Given the description of an element on the screen output the (x, y) to click on. 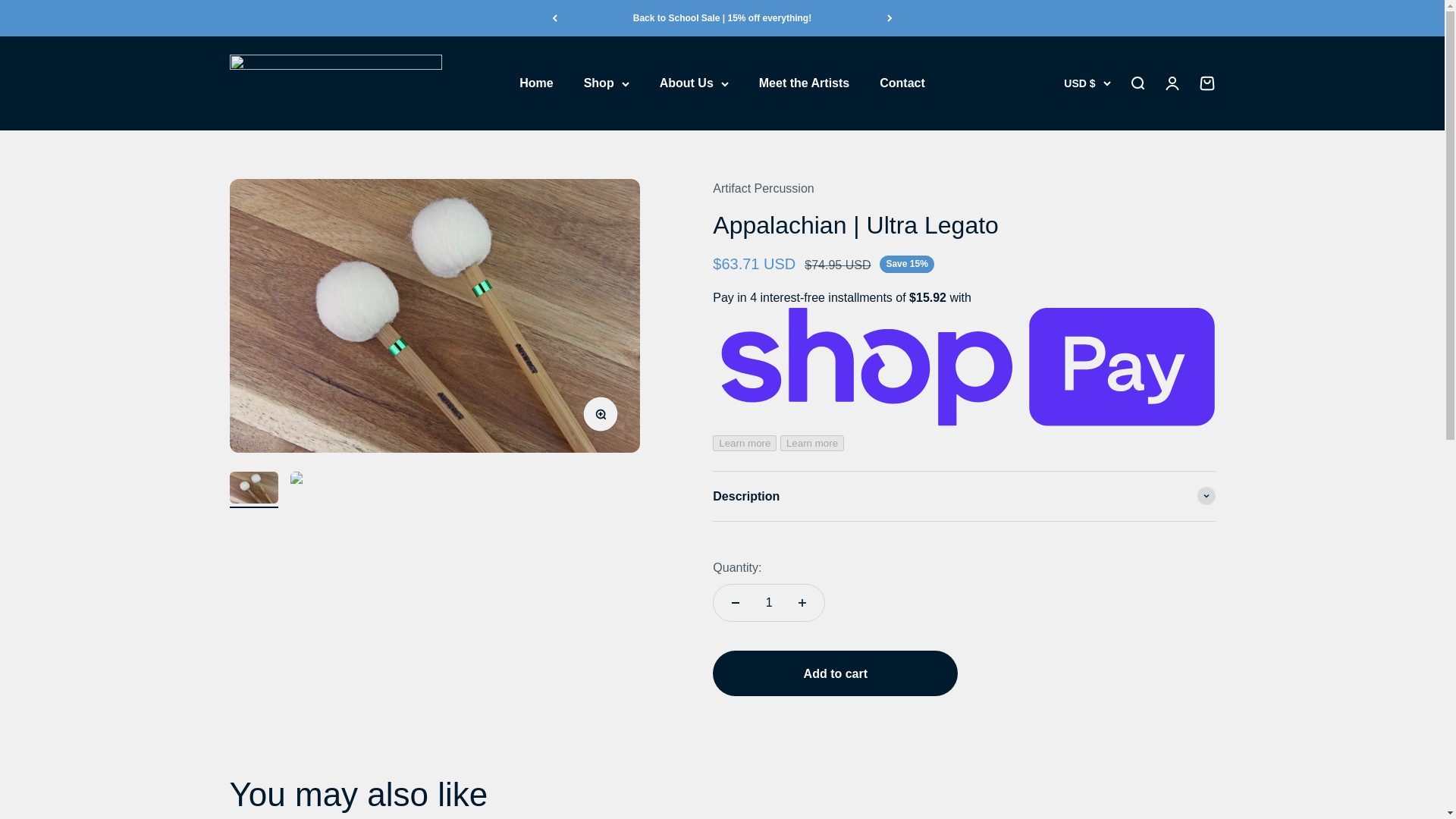
Home (536, 83)
Meet the Artists (803, 83)
Artifact Percussion (334, 83)
Contact (901, 83)
